Given the description of an element on the screen output the (x, y) to click on. 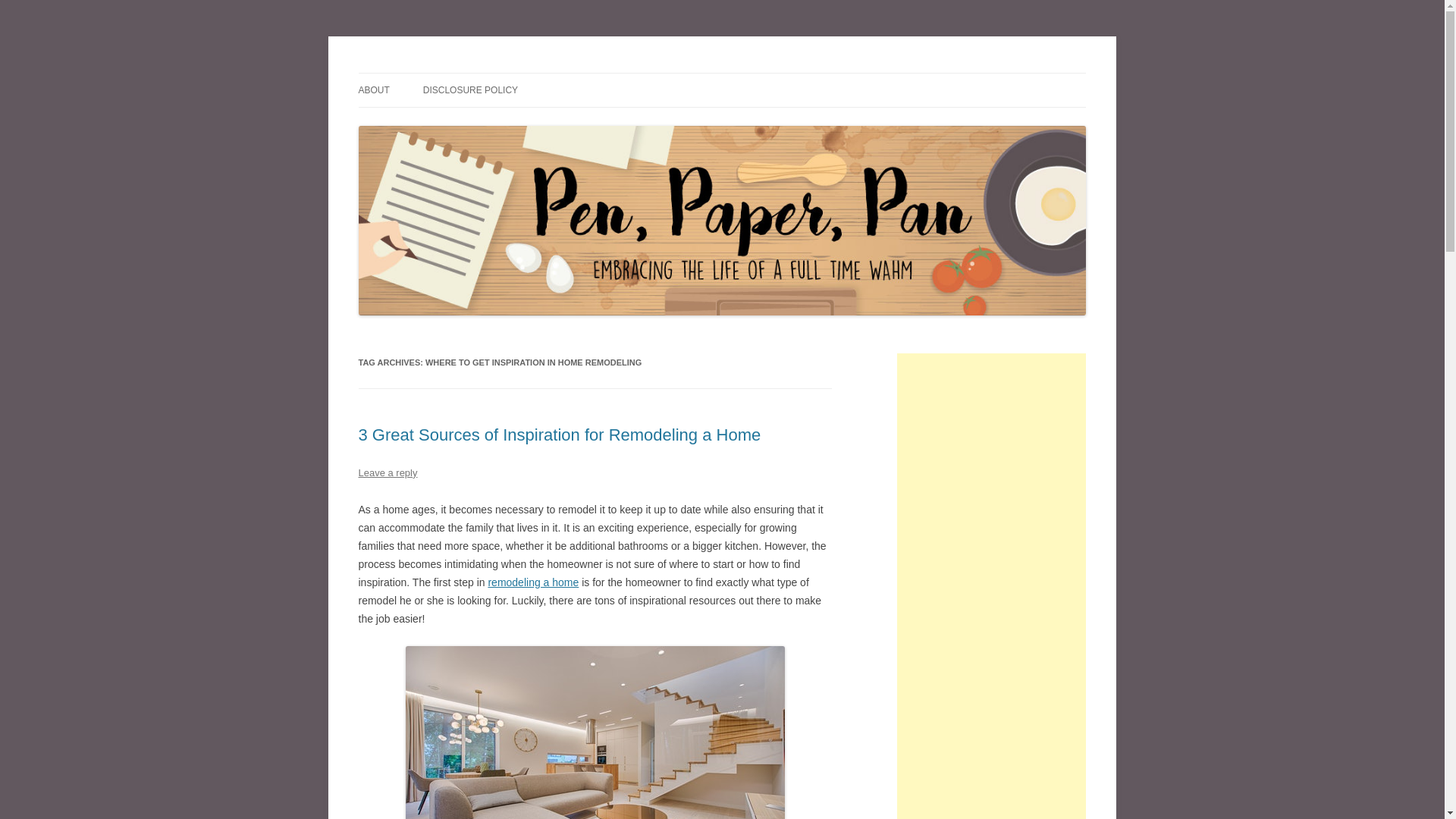
Advertisement (991, 813)
Leave a reply (387, 472)
3 Great Sources of Inspiration for Remodeling a Home (559, 434)
DISCLOSURE POLICY (470, 90)
Pen, Paper, Pan (431, 72)
ABOUT (373, 90)
remodeling a home (532, 582)
